Given the description of an element on the screen output the (x, y) to click on. 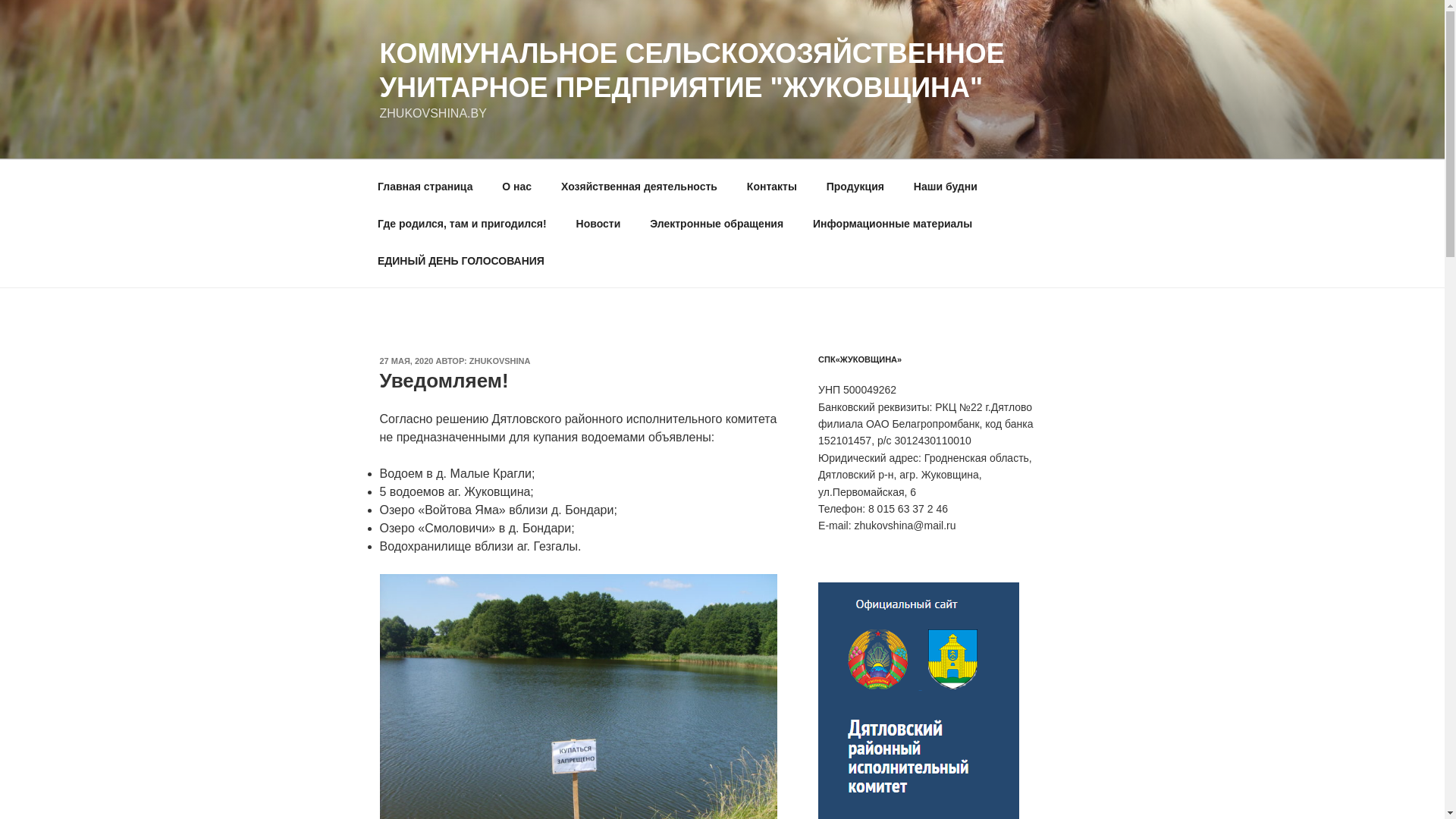
ZHUKOVSHINA Element type: text (499, 360)
